Given the description of an element on the screen output the (x, y) to click on. 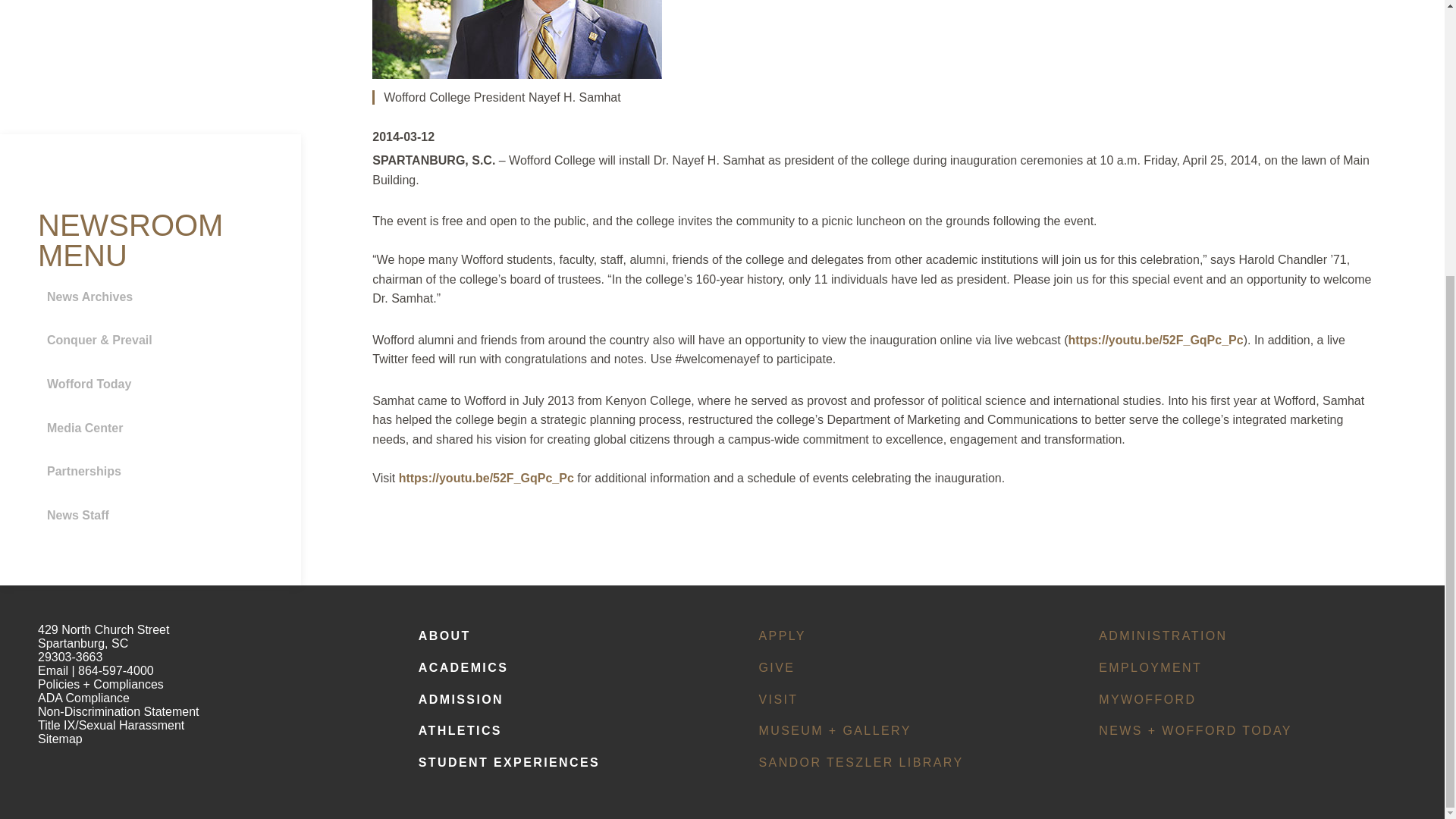
Administration (1240, 636)
Wofford Today (154, 384)
Academics (560, 667)
inauguration (485, 477)
Give (899, 667)
Athletics (560, 730)
About (560, 636)
Student Experiences (560, 762)
inauguration (1155, 339)
Partnerships (154, 471)
